Given the description of an element on the screen output the (x, y) to click on. 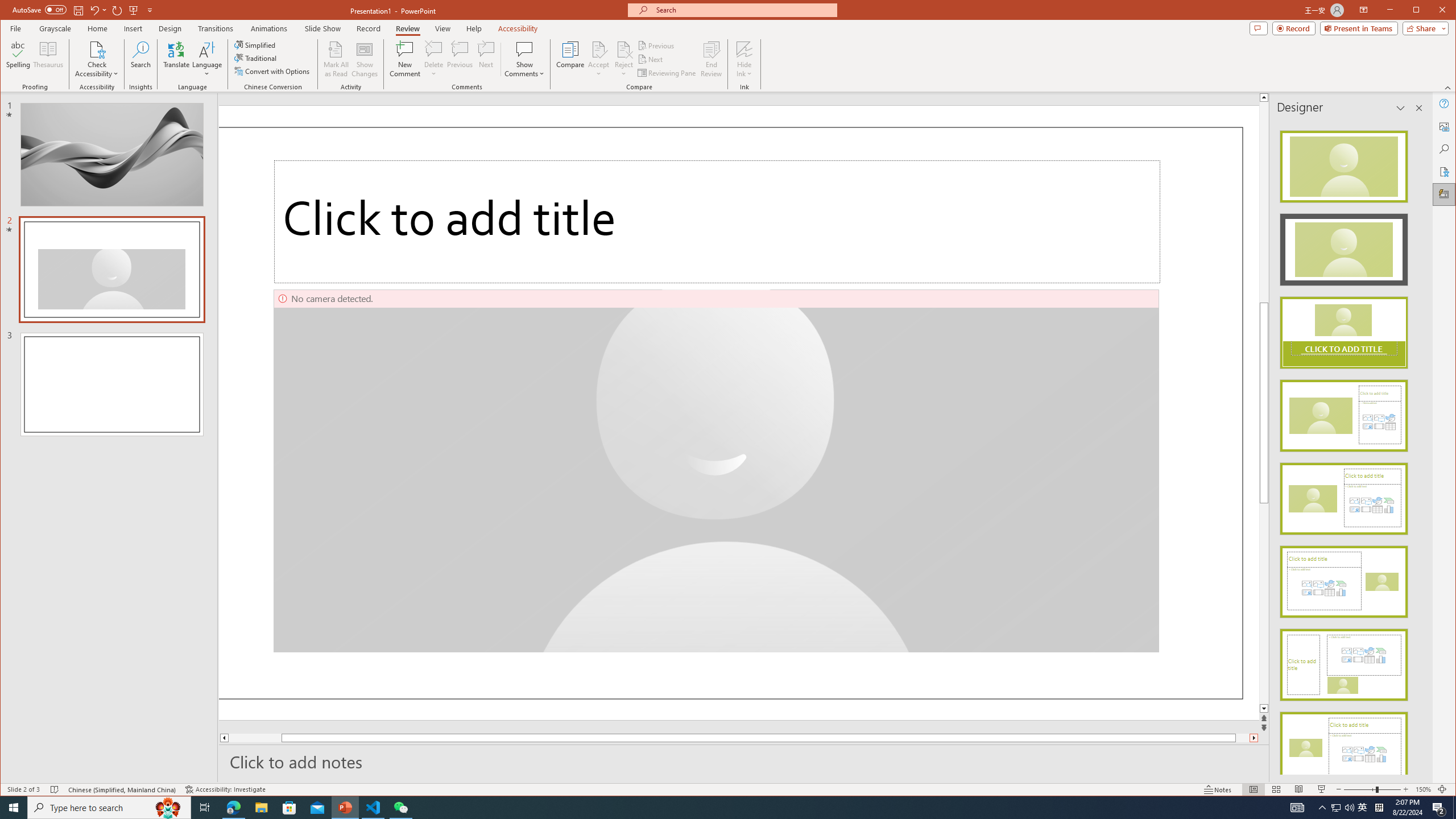
Spelling... (18, 59)
Alt Text (1444, 125)
Reject Change (623, 48)
Camera 4, No camera detected. (715, 470)
